Given the description of an element on the screen output the (x, y) to click on. 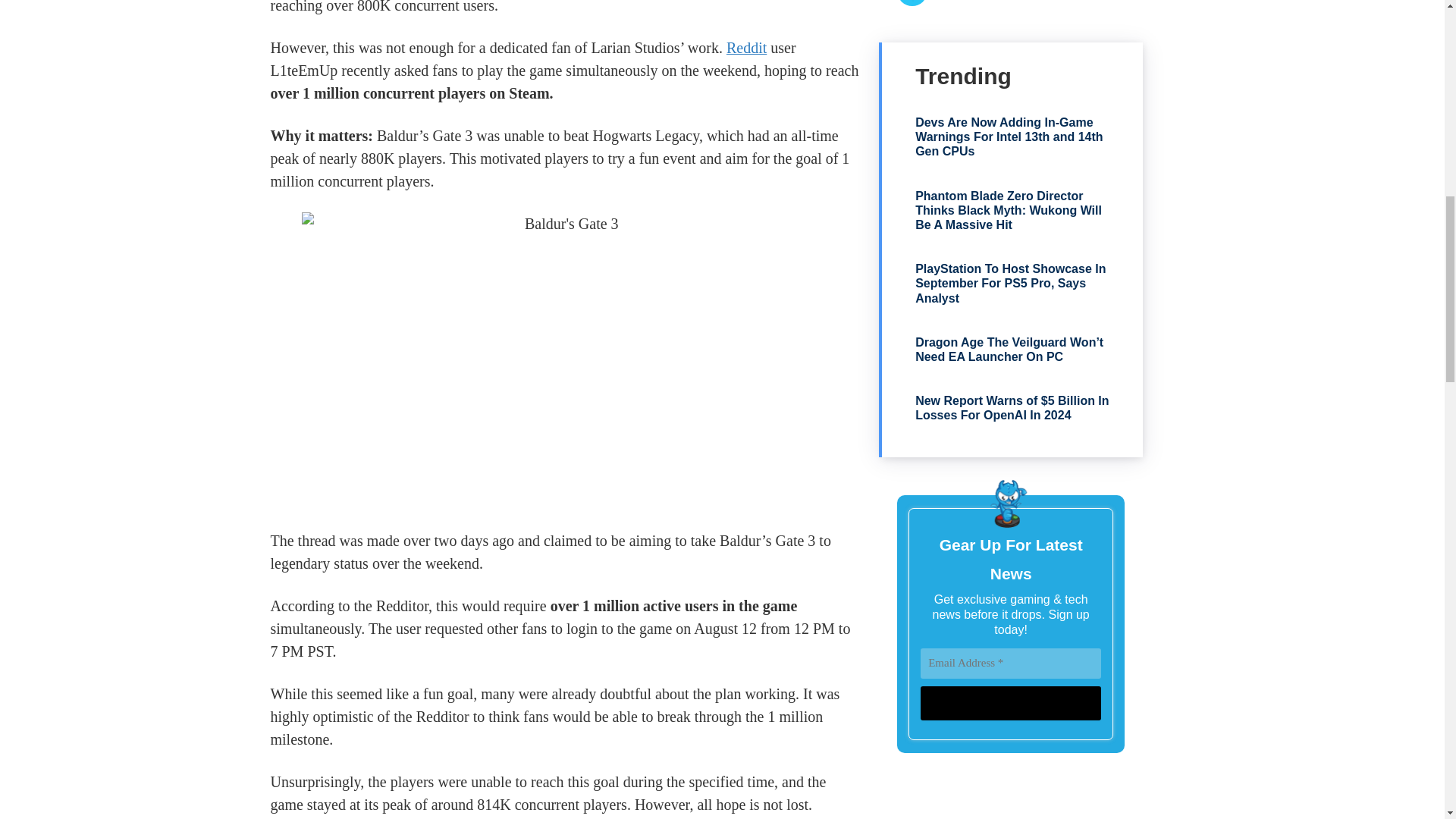
Subscribe! (1010, 703)
